Given the description of an element on the screen output the (x, y) to click on. 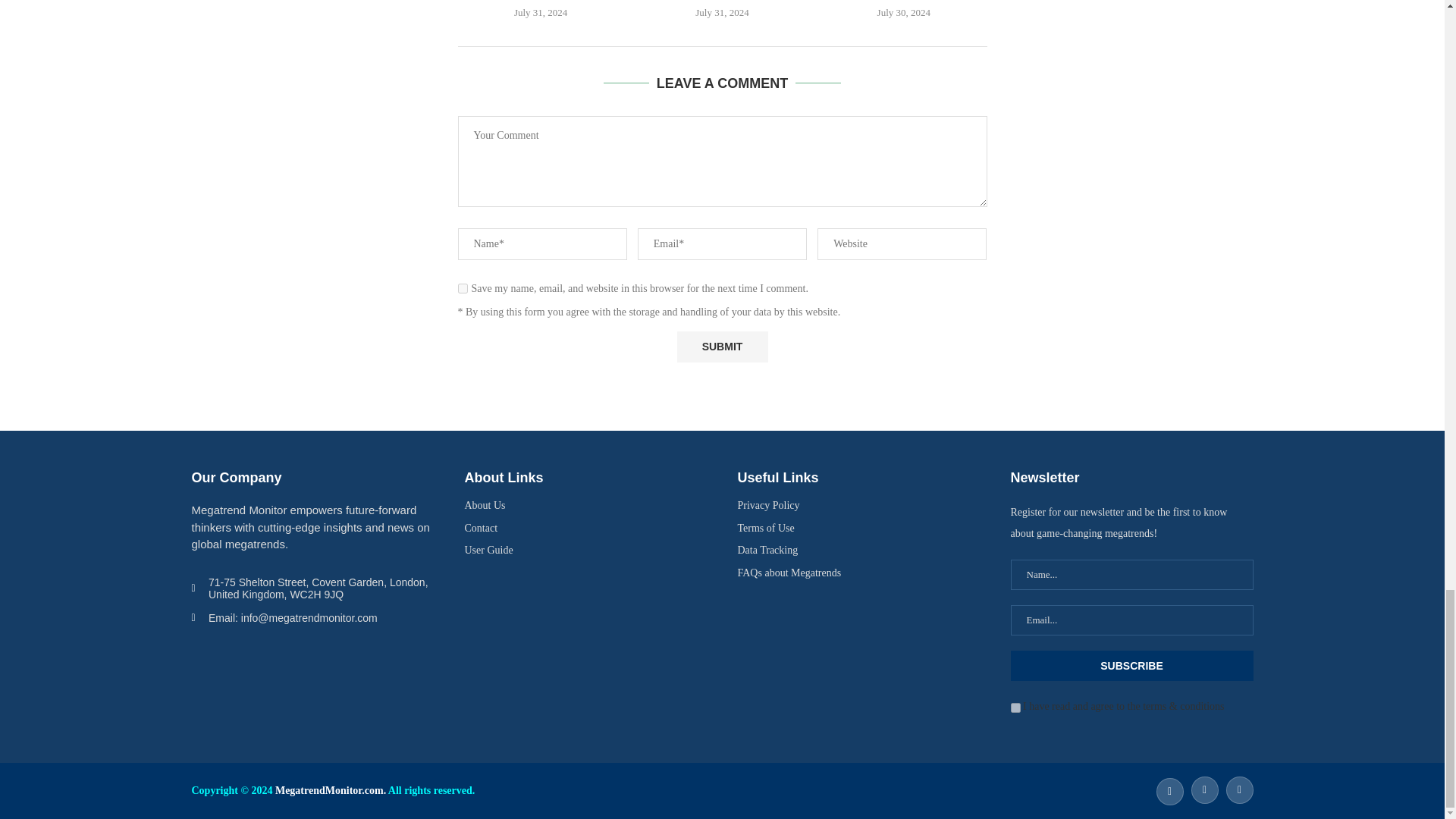
Subscribe (1131, 665)
yes (462, 288)
1 (1015, 707)
Submit (722, 346)
